Given the description of an element on the screen output the (x, y) to click on. 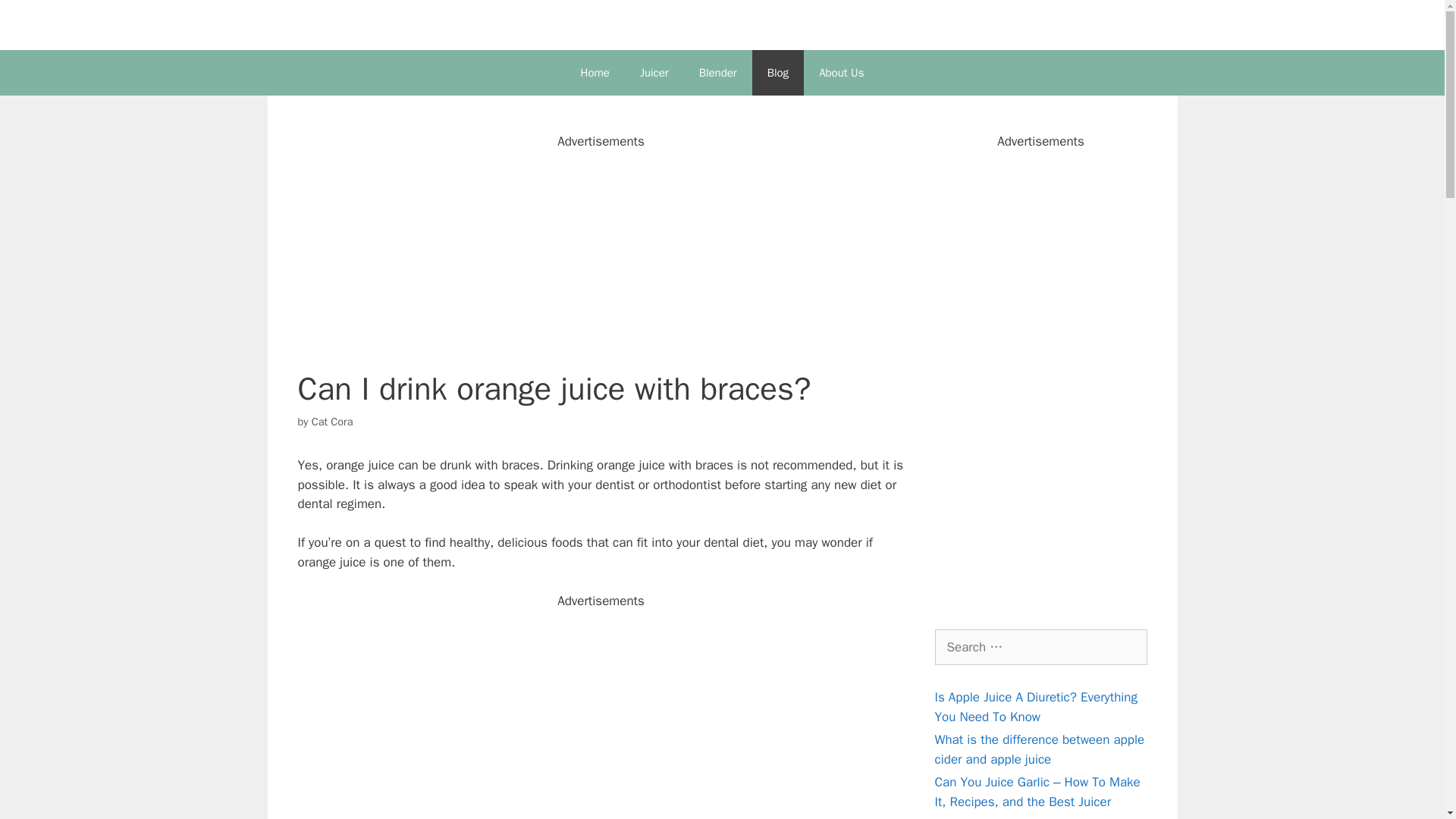
View all posts by Cat Cora (332, 421)
Search for: (1040, 647)
Home (595, 72)
About Us (841, 72)
What is the difference between apple cider and apple juice (1039, 749)
Juicer (654, 72)
Blender (718, 72)
Is Apple Juice A Diuretic? Everything You Need To Know (1035, 706)
Cat Cora (332, 421)
Blog (777, 72)
Search (35, 18)
Pickle Juice vs Apple Cider Vinegar (1031, 817)
